Given the description of an element on the screen output the (x, y) to click on. 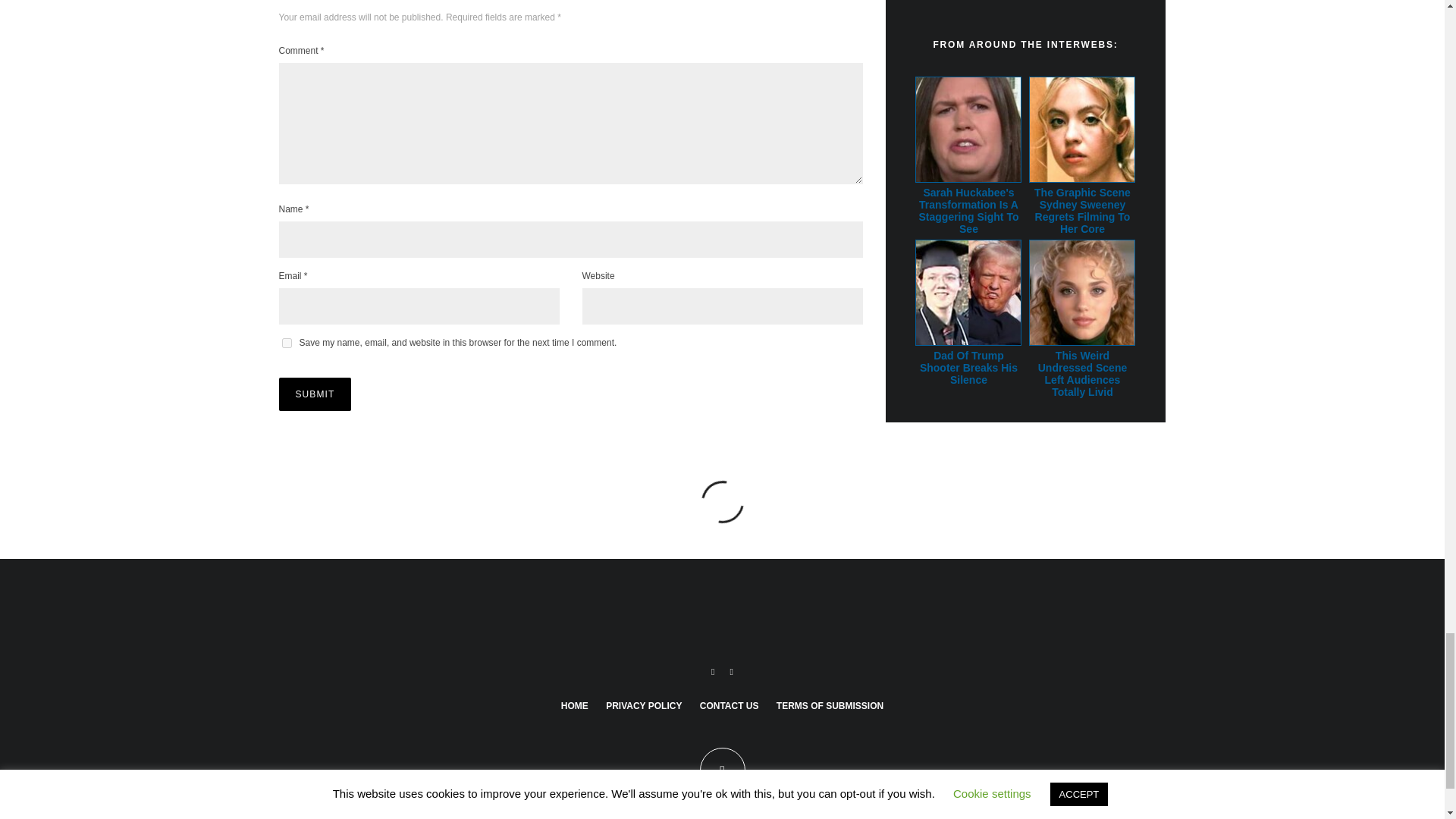
Submit (315, 394)
yes (287, 343)
